Given the description of an element on the screen output the (x, y) to click on. 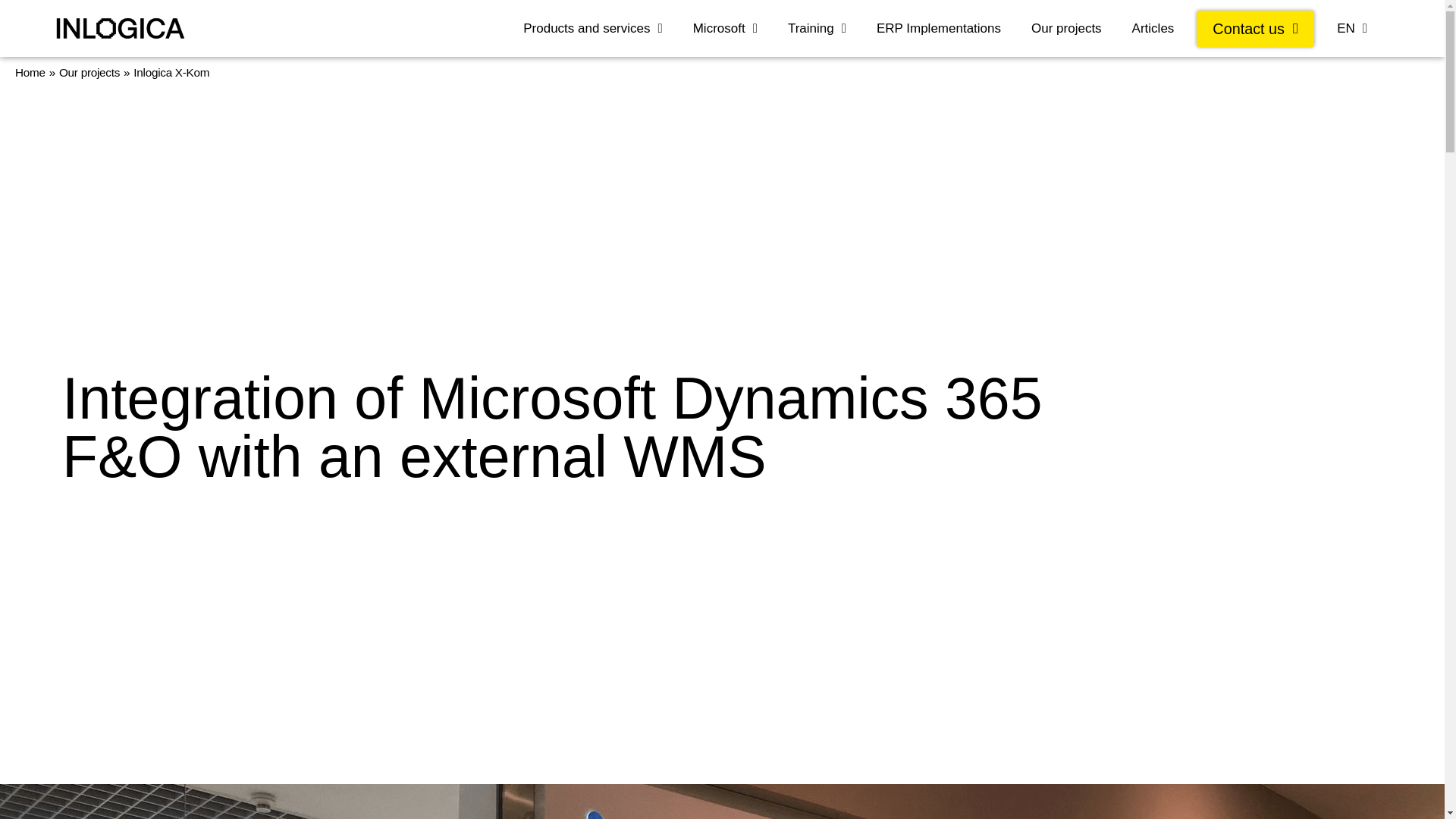
Microsoft (725, 28)
Training (817, 28)
Products and services (592, 28)
